Given the description of an element on the screen output the (x, y) to click on. 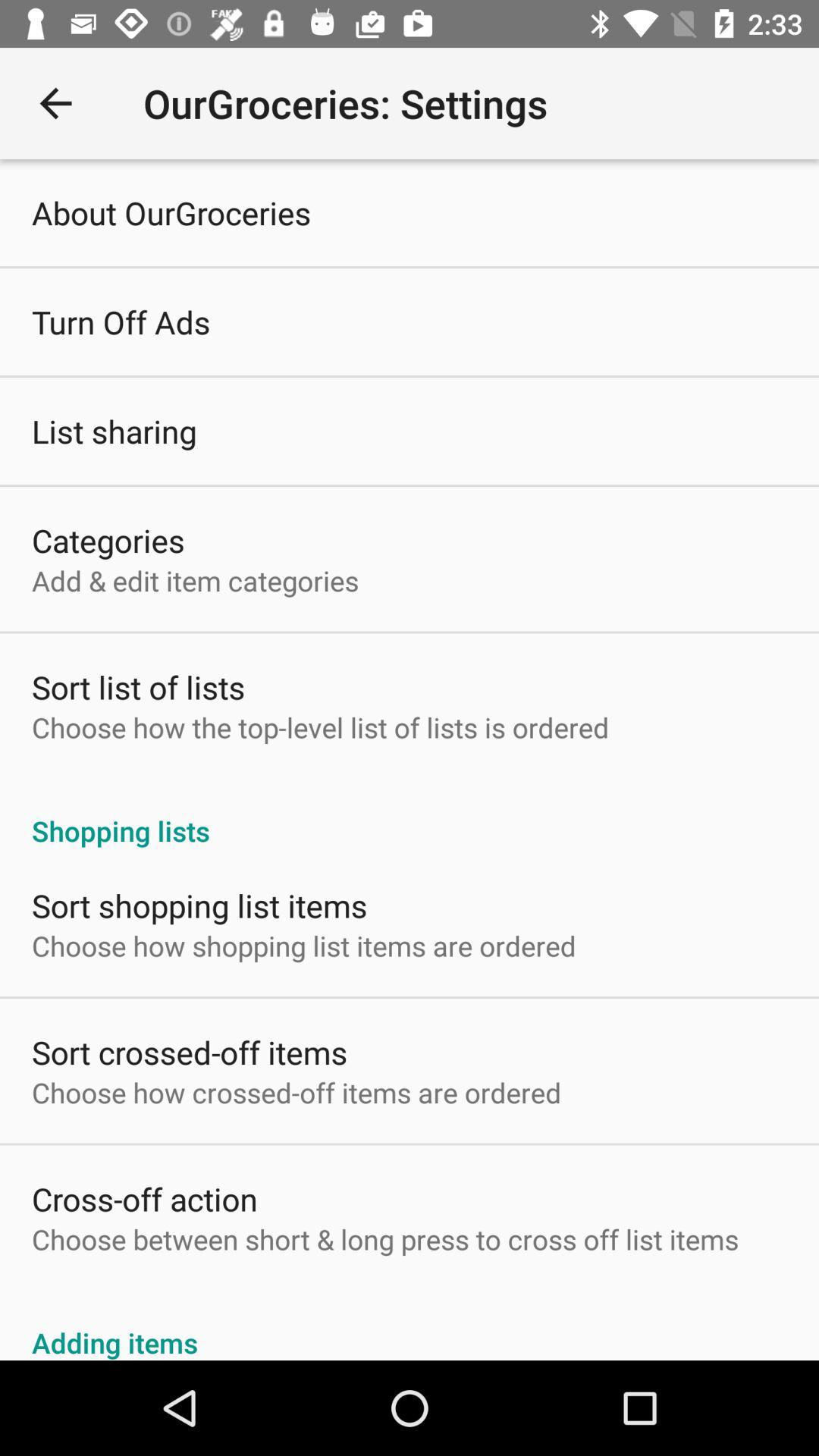
choose the icon above the about ourgroceries item (55, 103)
